Given the description of an element on the screen output the (x, y) to click on. 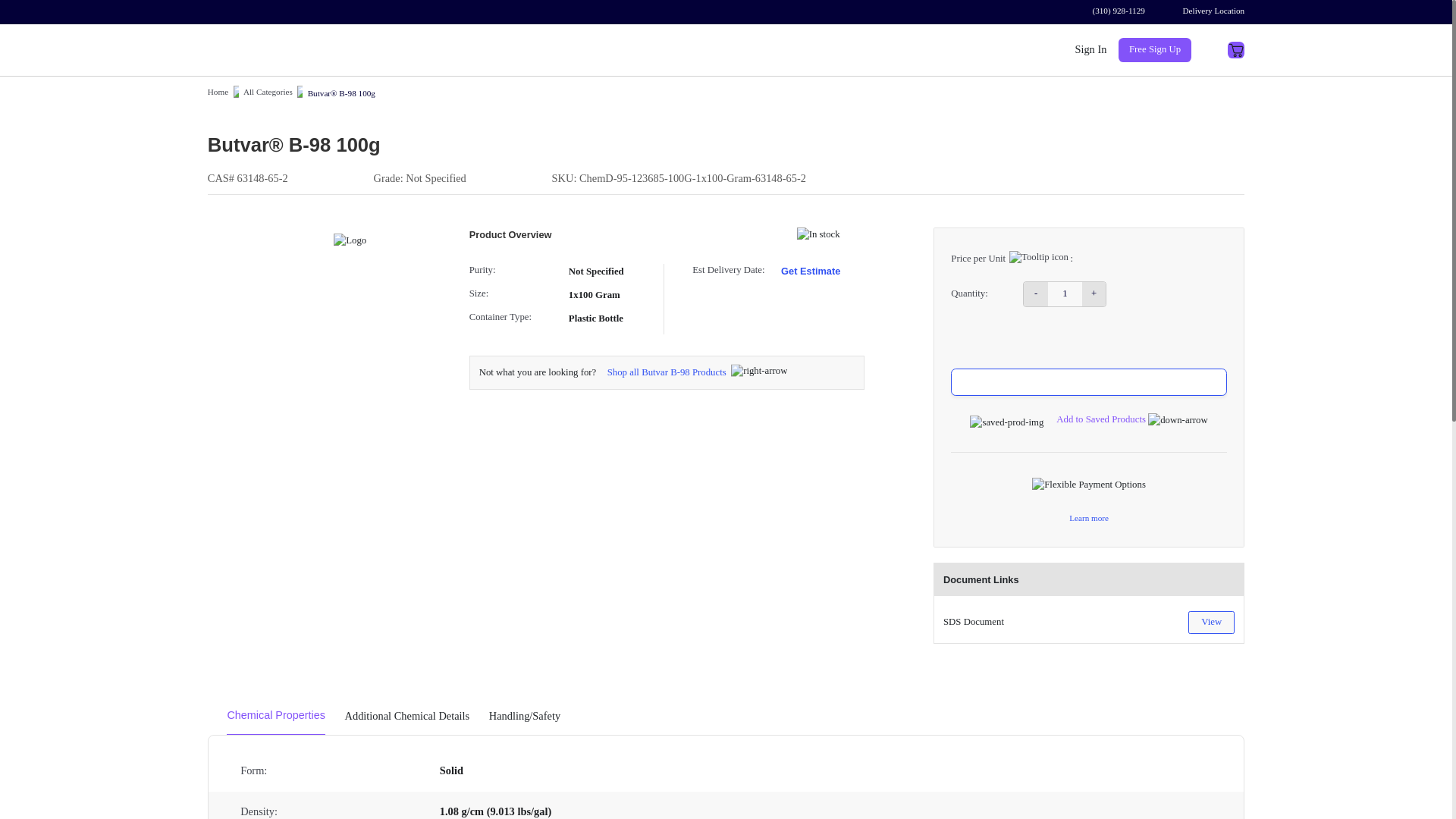
Shop all Butvar B-98 Products (664, 371)
Additional Chemical Details (407, 716)
Free Sign Up (1154, 49)
View (1211, 621)
1 (1064, 293)
Chemical Properties (275, 716)
Sign In (1090, 49)
- (1035, 293)
Home (218, 92)
Learn more (1088, 517)
Add to Saved Products (1132, 419)
Request Bulk Pricing (1087, 382)
Get Estimate (810, 270)
All Categories (267, 92)
